Given the description of an element on the screen output the (x, y) to click on. 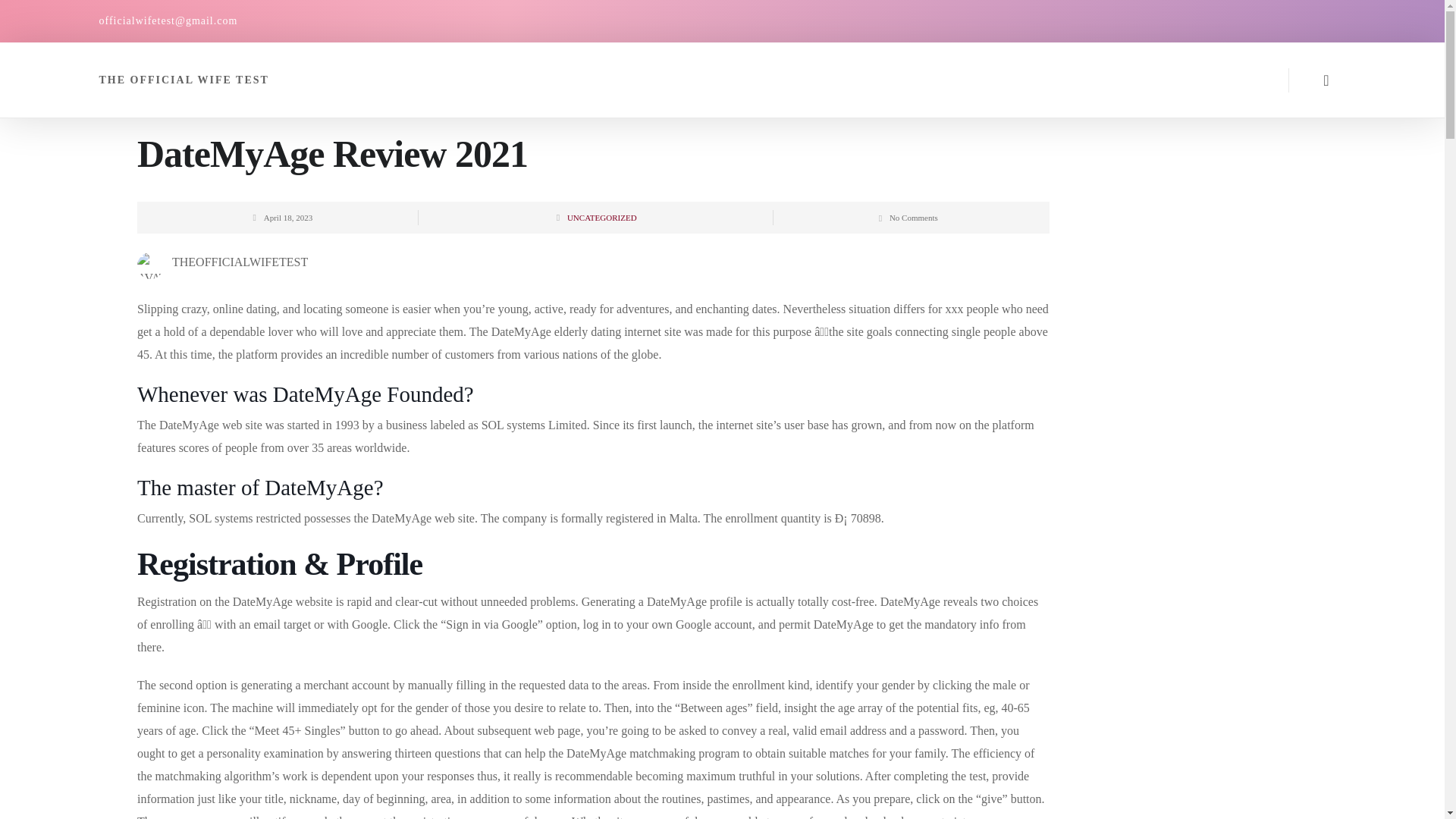
Gravatar for theofficialwifetest (149, 265)
